Given the description of an element on the screen output the (x, y) to click on. 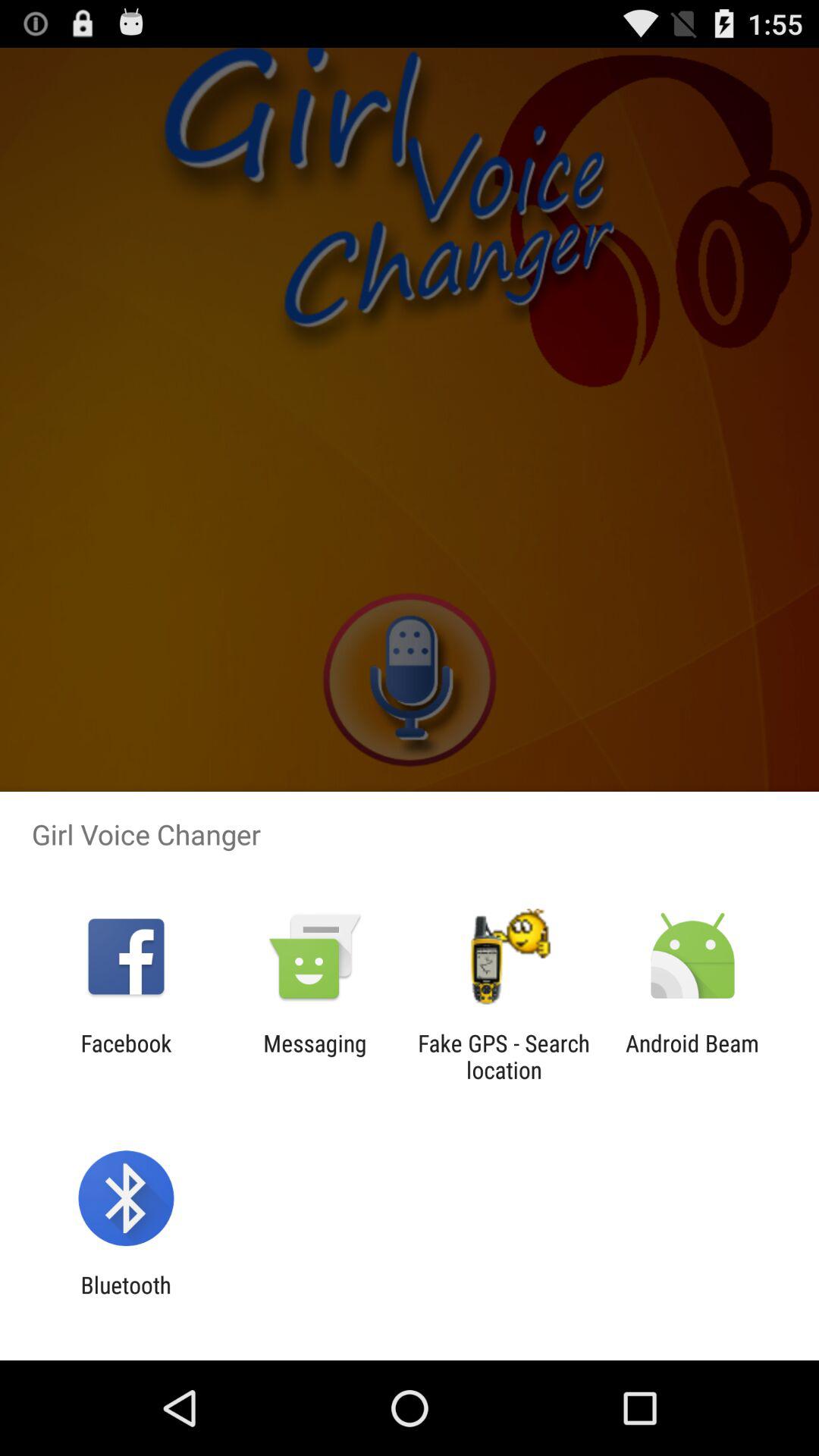
turn off app to the right of facebook item (314, 1056)
